Given the description of an element on the screen output the (x, y) to click on. 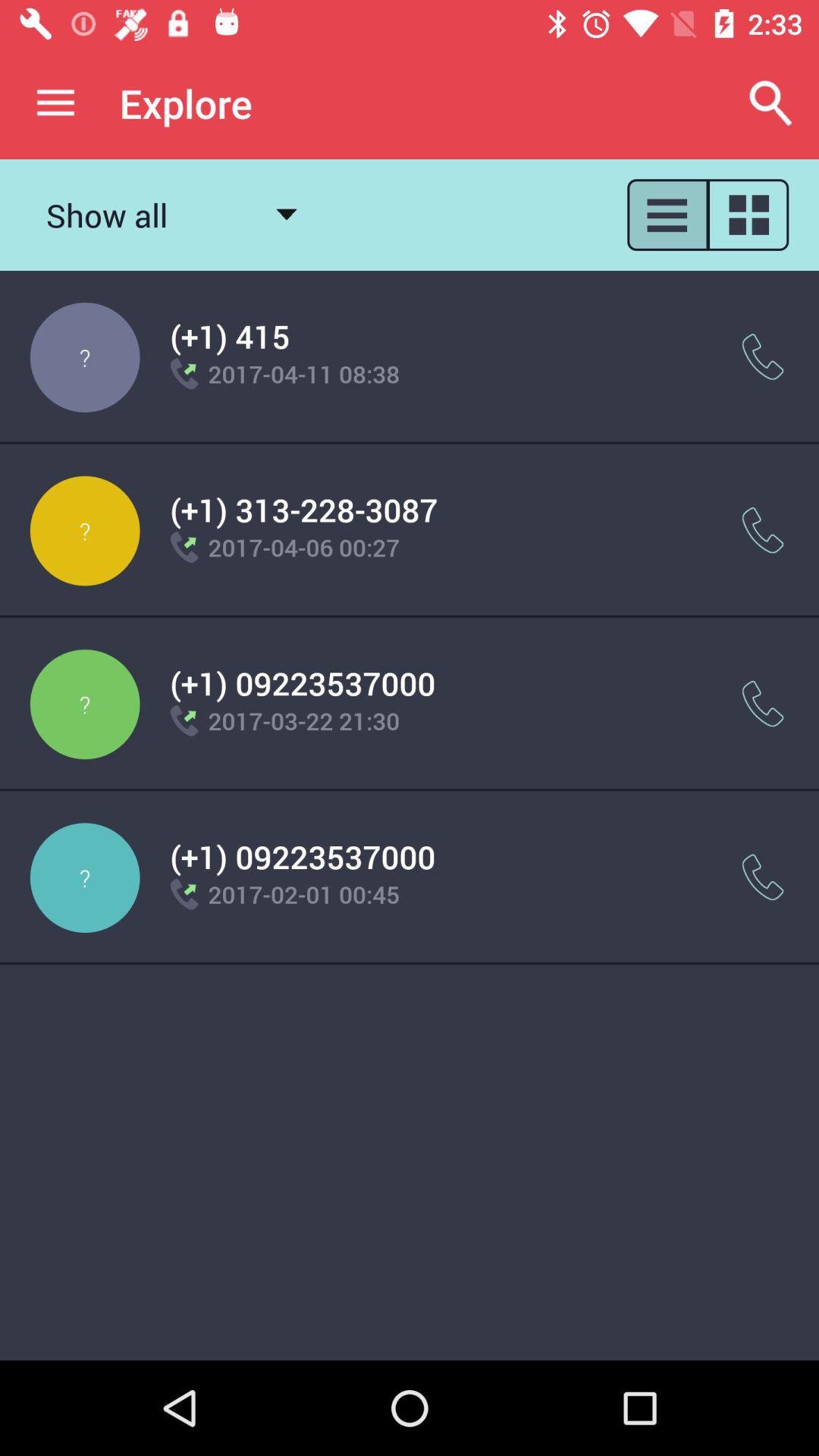
turn on the item next to 2017 04 11 icon (762, 356)
